Given the description of an element on the screen output the (x, y) to click on. 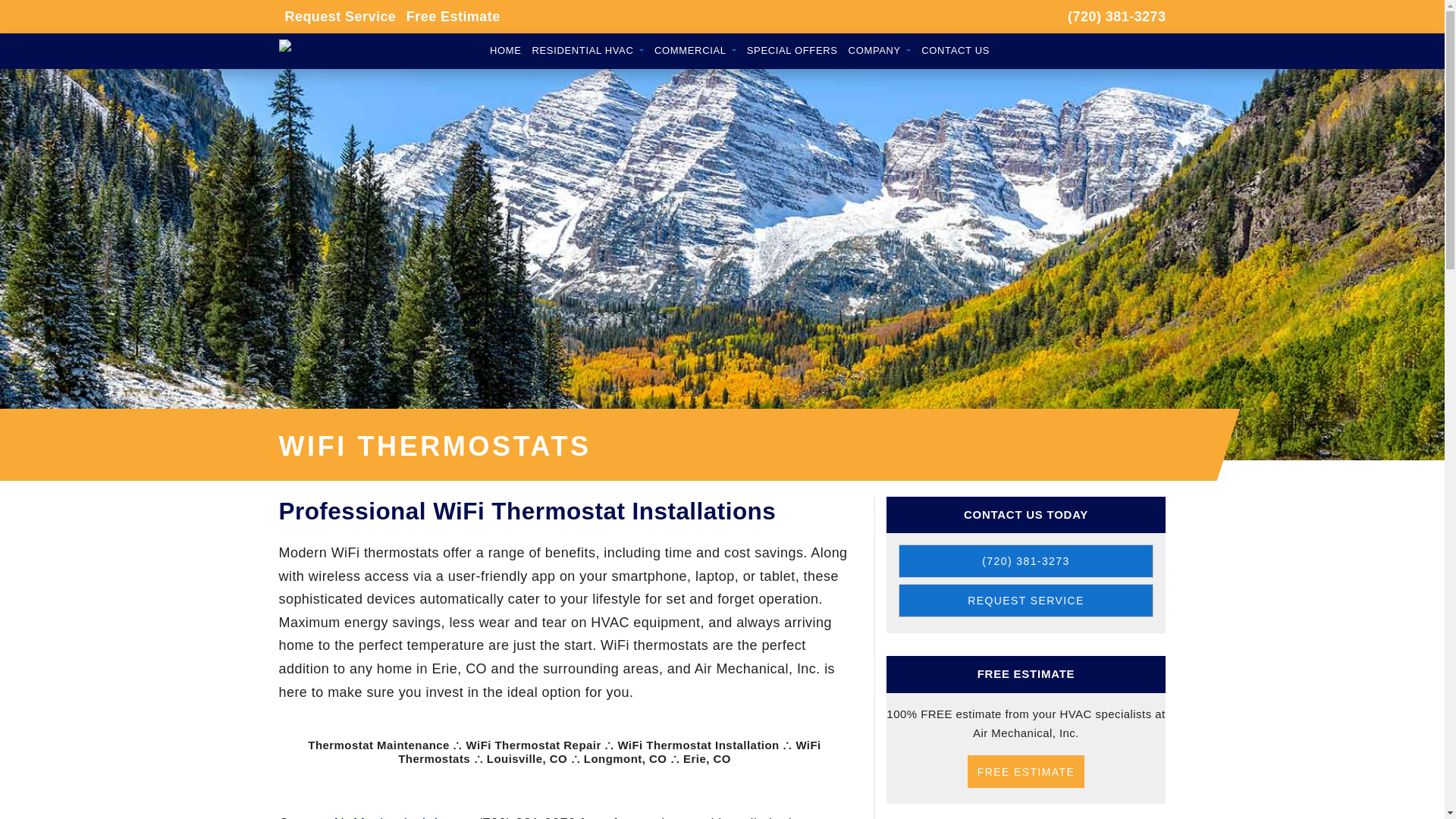
HOME (505, 50)
RESIDENTIAL HVAC (588, 50)
Request Service (337, 16)
COMMERCIAL (695, 50)
Free Estimate (453, 16)
